Given the description of an element on the screen output the (x, y) to click on. 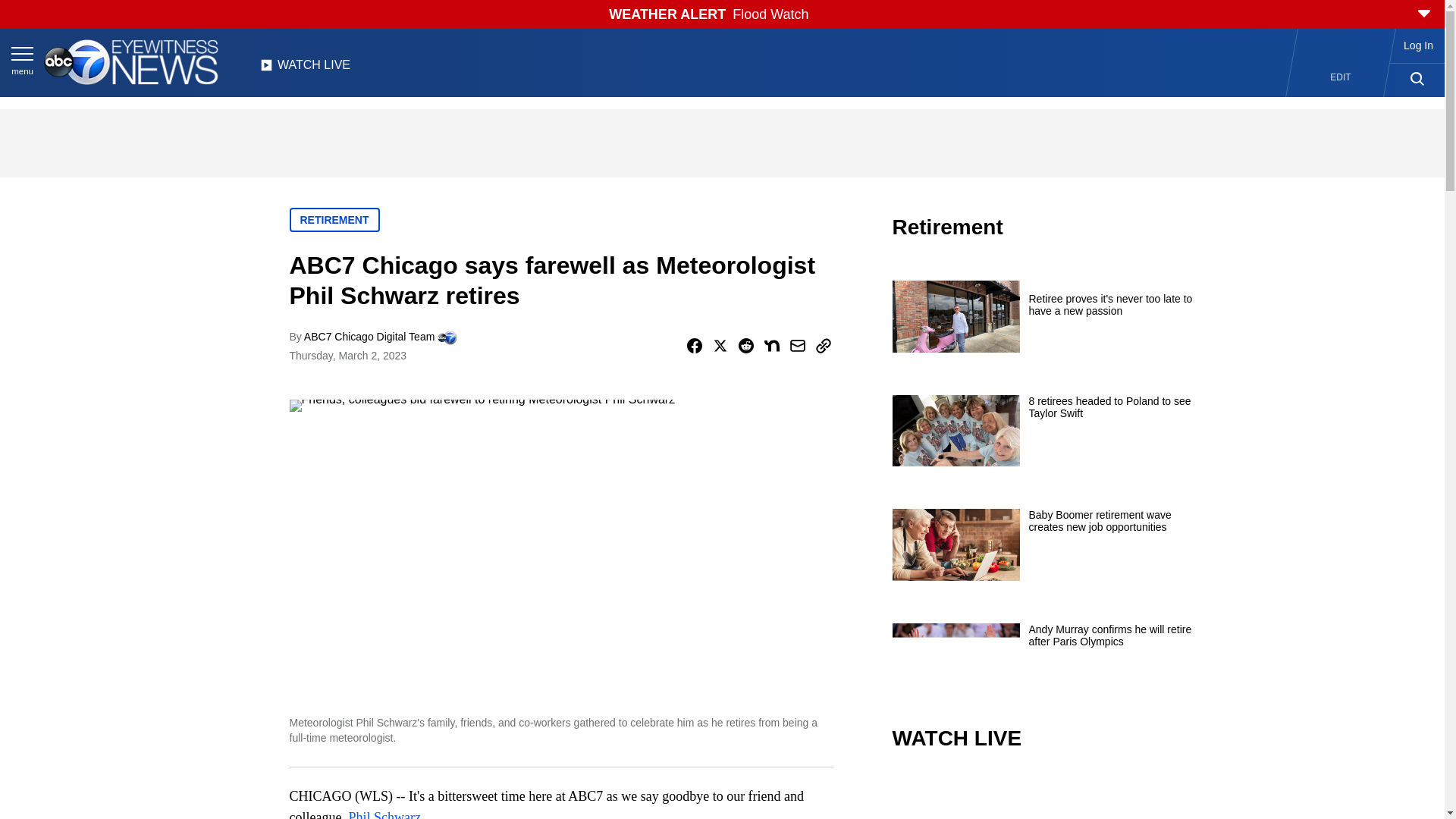
EDIT (1340, 77)
video.title (1043, 796)
WATCH LIVE (305, 69)
